Given the description of an element on the screen output the (x, y) to click on. 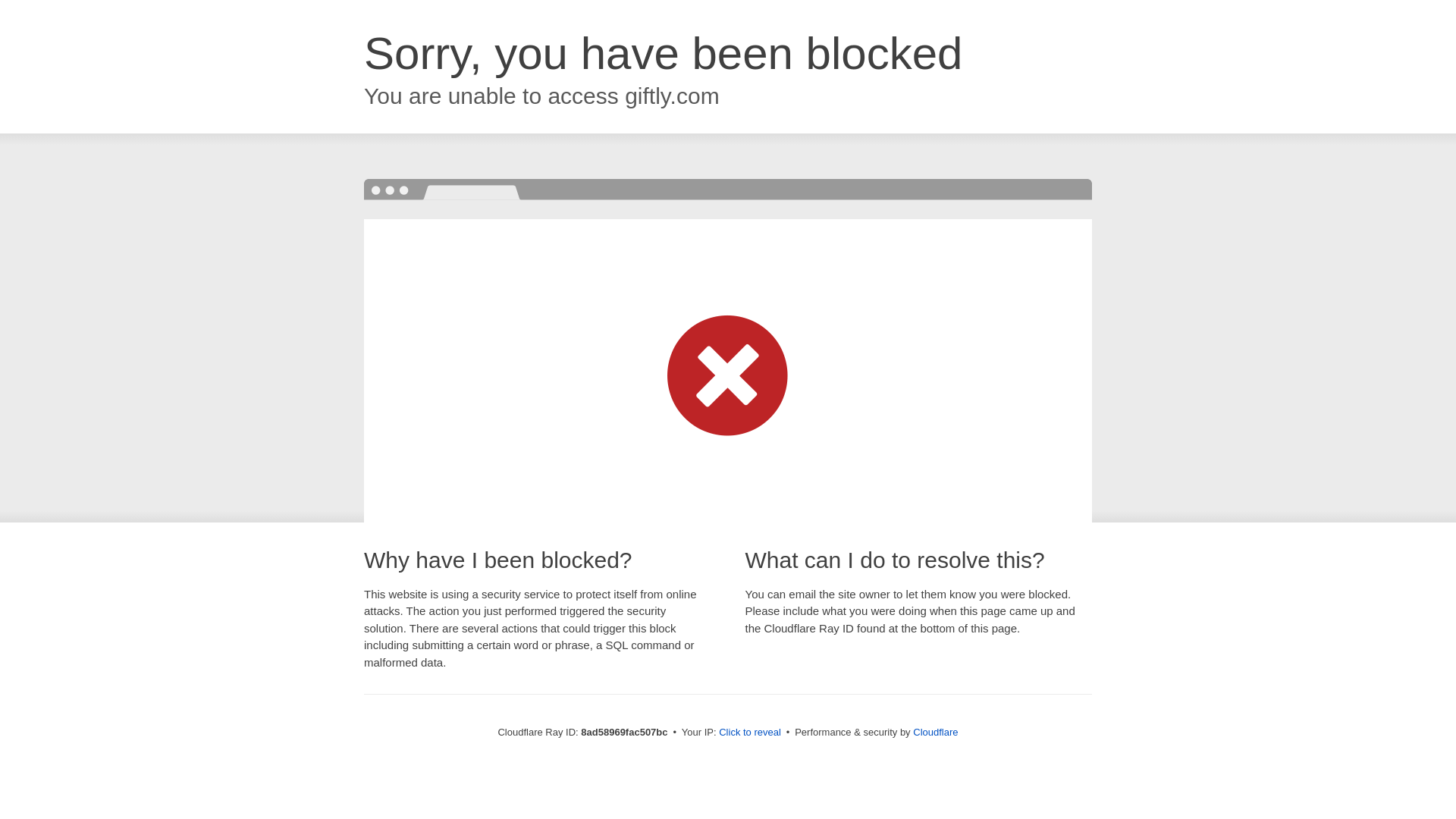
Click to reveal (749, 732)
Cloudflare (935, 731)
